Given the description of an element on the screen output the (x, y) to click on. 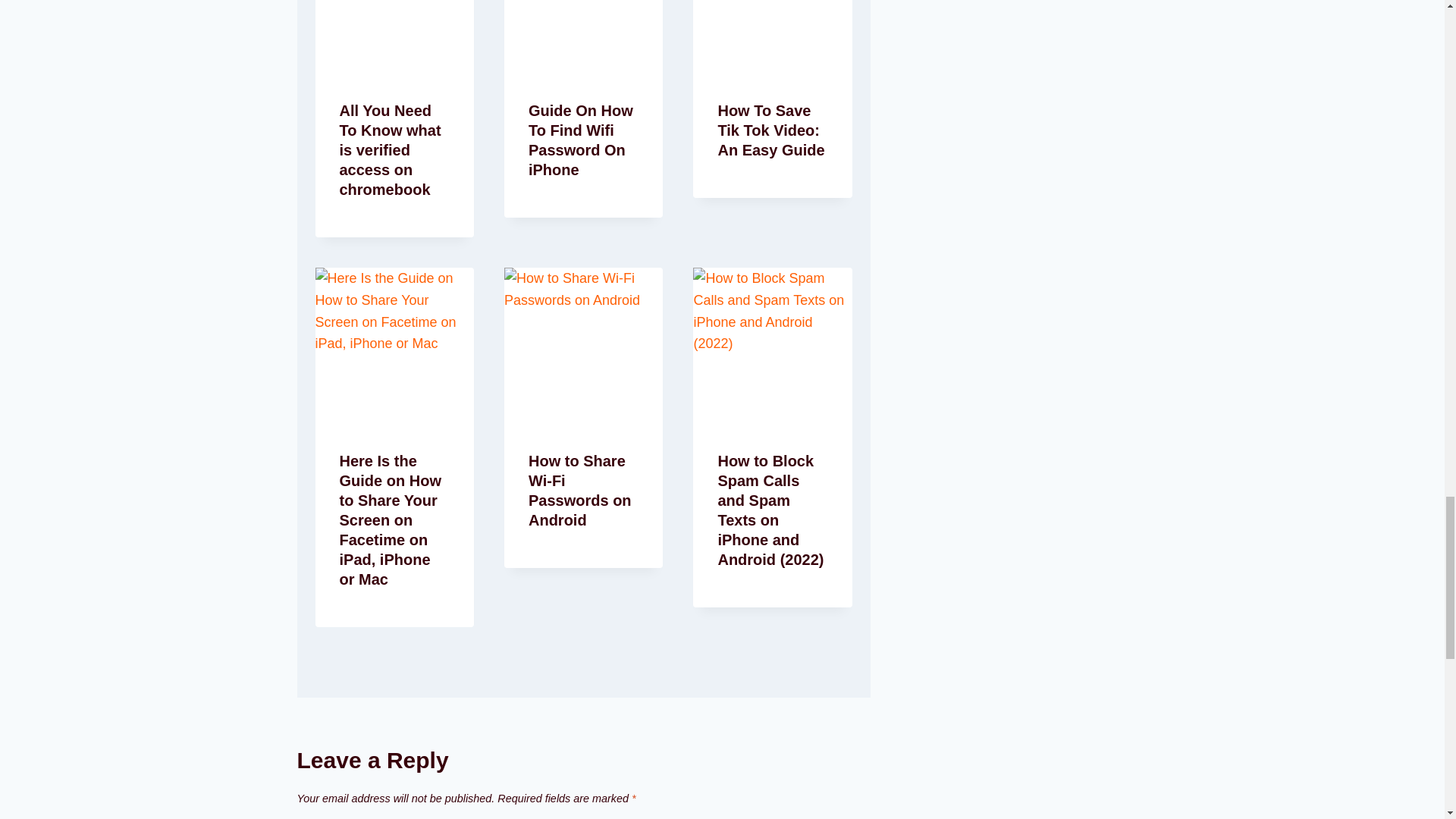
Guide On How To Find Wifi Password On iPhone (580, 140)
How To Save Tik Tok Video: An Easy Guide (770, 130)
All You Need To Know what is verified access on chromebook (390, 150)
How to Share Wi-Fi Passwords on Android (579, 490)
